Given the description of an element on the screen output the (x, y) to click on. 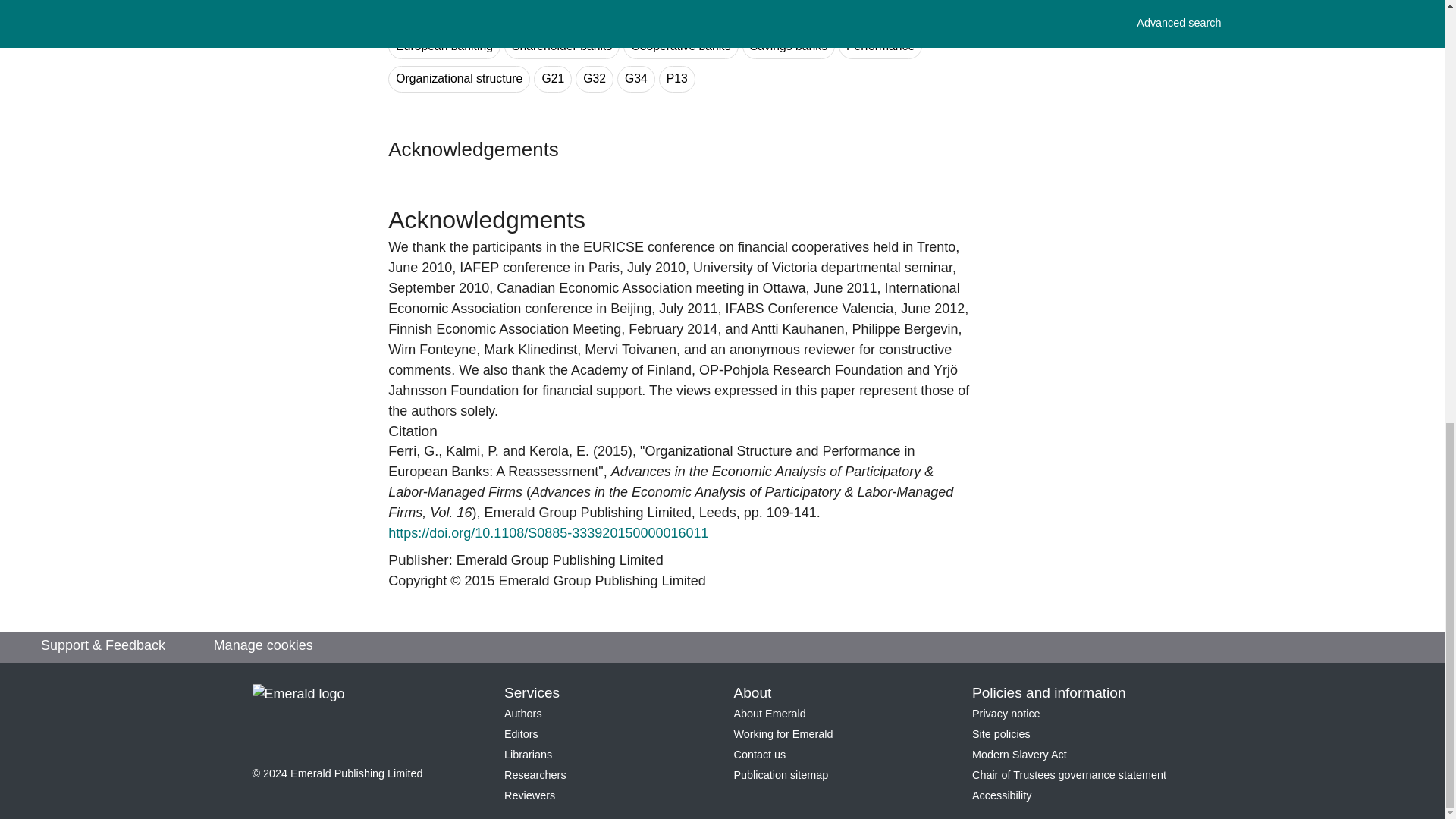
Organizational structure (458, 79)
Search for keyword G21 (553, 79)
Shareholder banks (561, 45)
Search for keyword Performance (879, 45)
Search for keyword European banking (444, 45)
Search for keyword Cooperative banks (680, 45)
Ferri, G. (413, 450)
Savings banks (788, 45)
Panu Kalmi (472, 450)
G21 (553, 79)
